Given the description of an element on the screen output the (x, y) to click on. 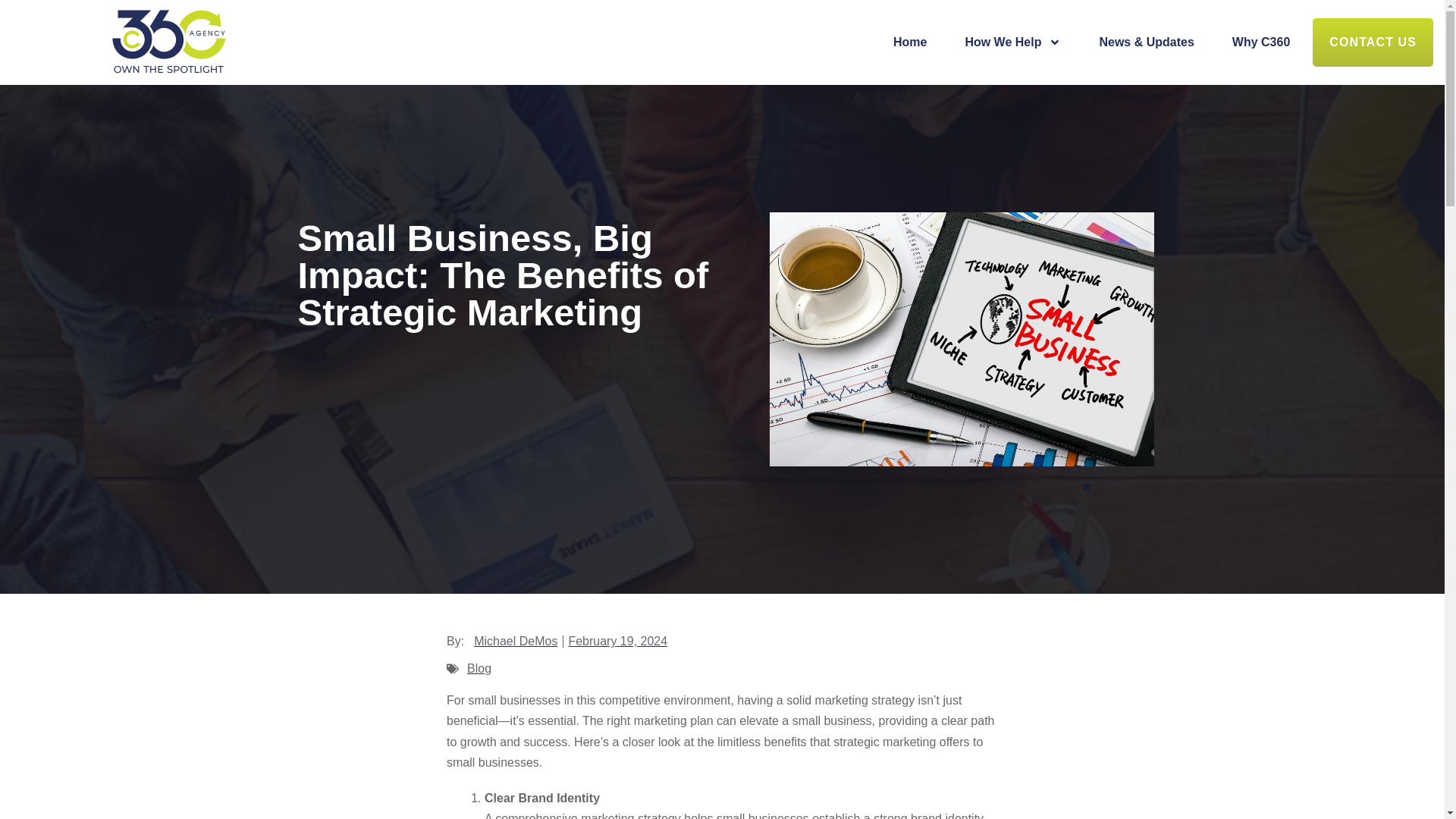
How We Help (1012, 42)
Why C360 (1260, 42)
Blog (479, 667)
Home (909, 42)
CONTACT US (1372, 42)
